Given the description of an element on the screen output the (x, y) to click on. 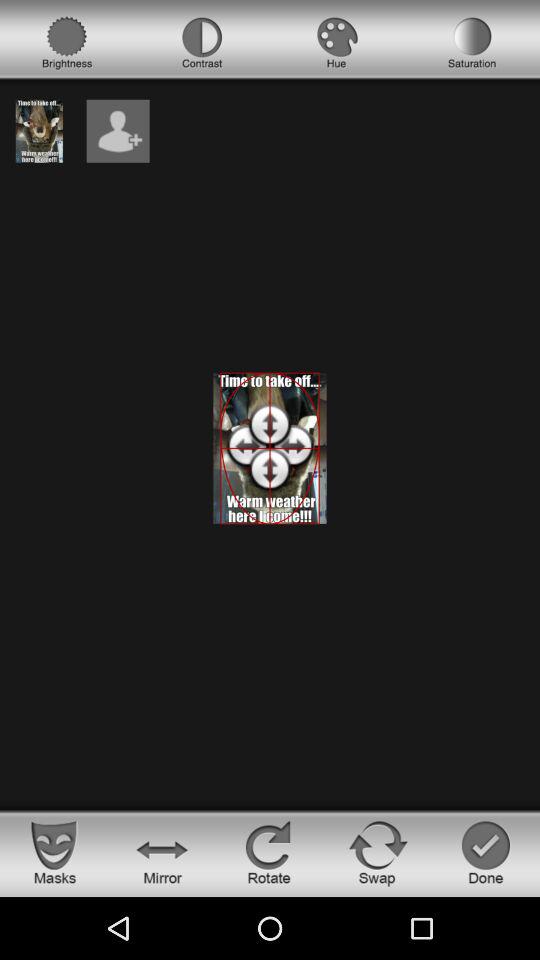
choose hue option (337, 43)
